Given the description of an element on the screen output the (x, y) to click on. 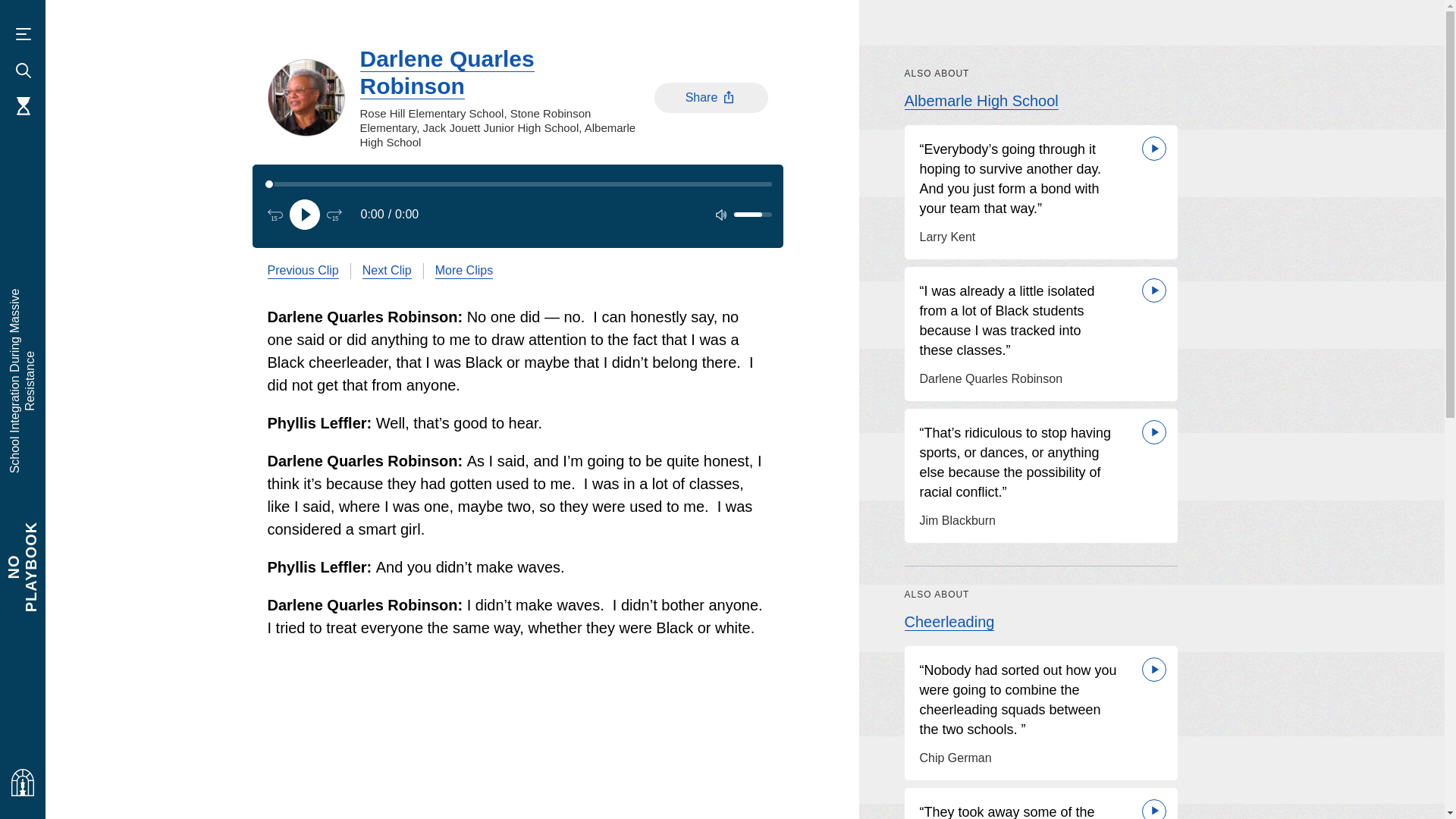
75 (752, 214)
0 (517, 184)
